Given the description of an element on the screen output the (x, y) to click on. 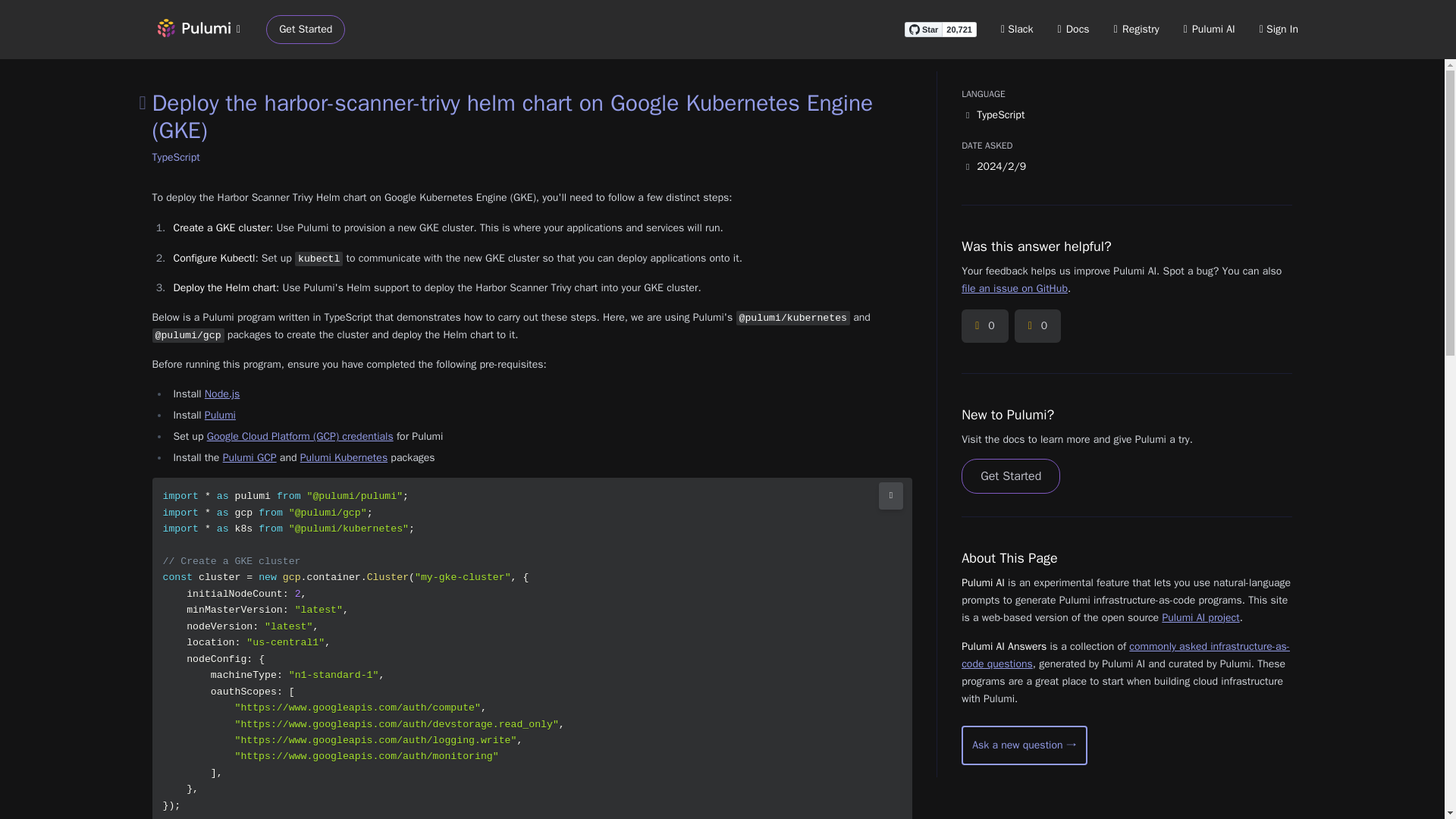
20,721 (959, 29)
Upvote this answer (984, 326)
Slack (1017, 29)
Pulumi GCP (249, 457)
 Star (923, 29)
Pulumi AI (1208, 29)
Docs (1073, 29)
Downvote this answer (1037, 326)
Get Started (305, 29)
Pulumi Kubernetes (343, 457)
